Given the description of an element on the screen output the (x, y) to click on. 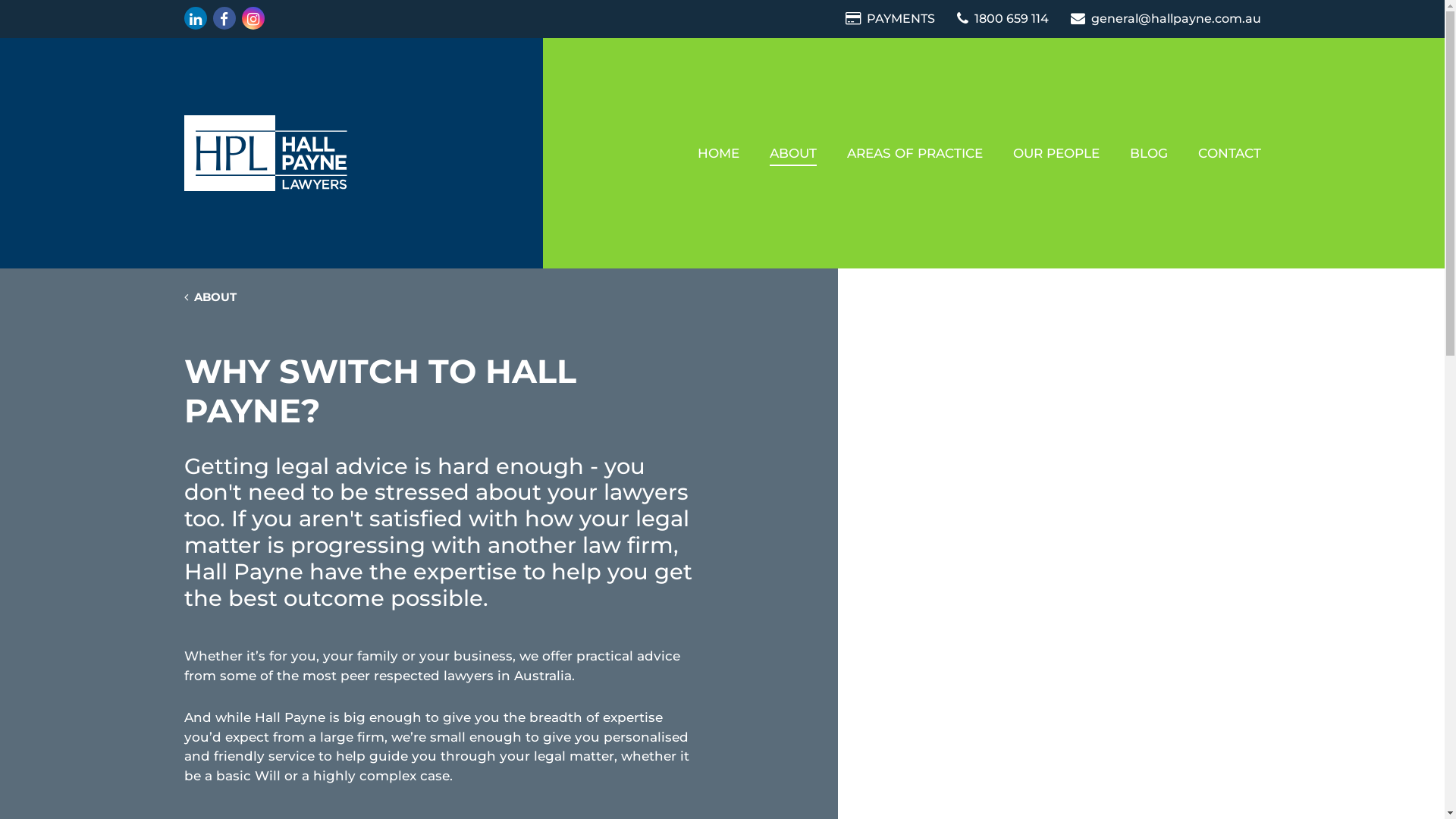
OUR PEOPLE Element type: text (1055, 152)
  ABOUT Element type: text (209, 297)
CONTACT Element type: text (1229, 152)
Instagram Element type: hover (252, 17)
AREAS OF PRACTICE Element type: text (914, 152)
Facebook Element type: hover (223, 17)
  general@hallpayne.com.au Element type: text (1165, 18)
BLOG Element type: text (1148, 152)
HOME Element type: text (718, 152)
  1800 659 114 Element type: text (1004, 18)
ABOUT Element type: text (792, 152)
  PAYMENTS Element type: text (890, 18)
LinkedIn Element type: hover (194, 17)
